Given the description of an element on the screen output the (x, y) to click on. 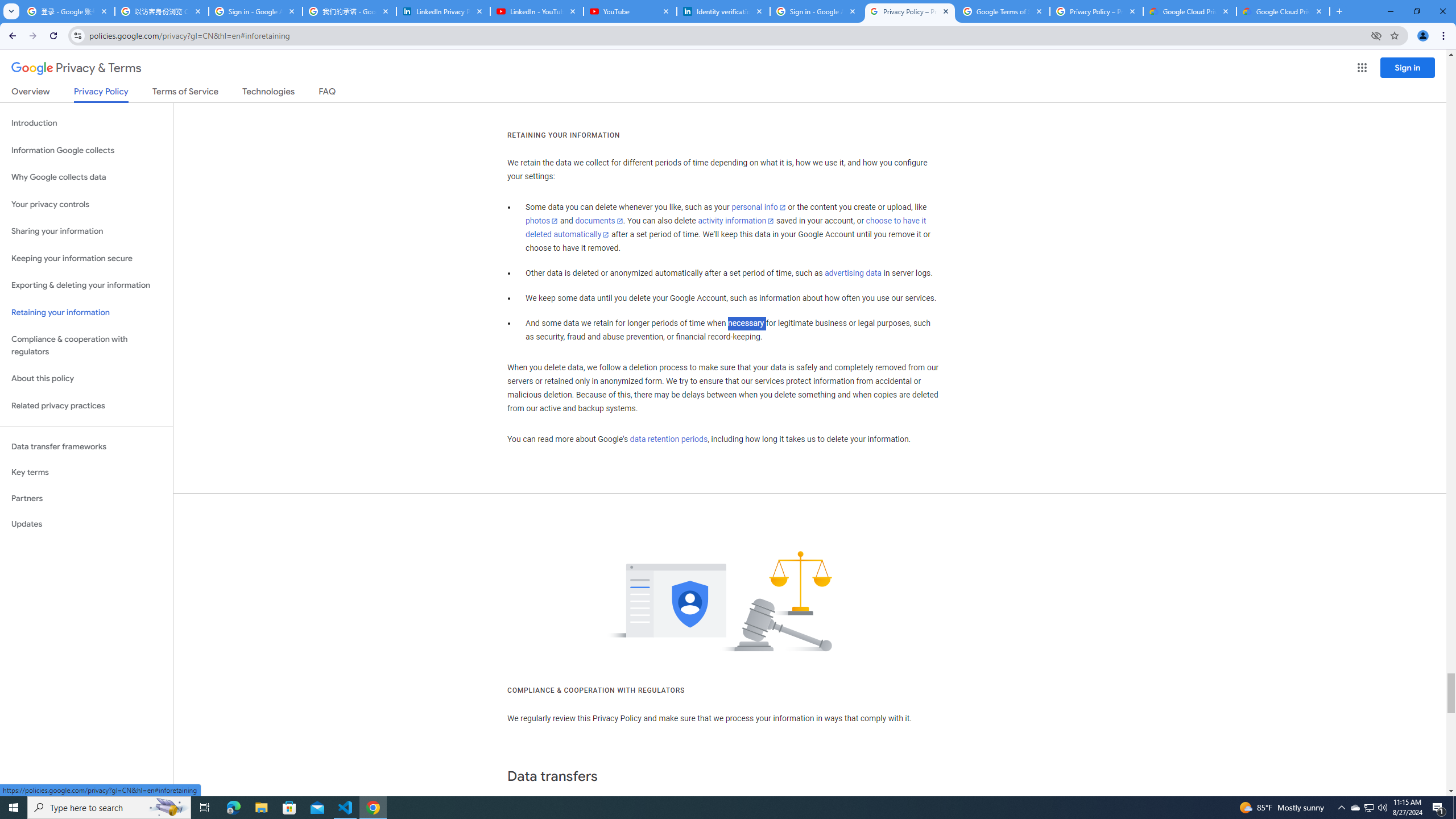
LinkedIn - YouTube (536, 11)
YouTube (629, 11)
Google Cloud Privacy Notice (1189, 11)
Sign in - Google Accounts (255, 11)
Why Google collects data (86, 176)
